Given the description of an element on the screen output the (x, y) to click on. 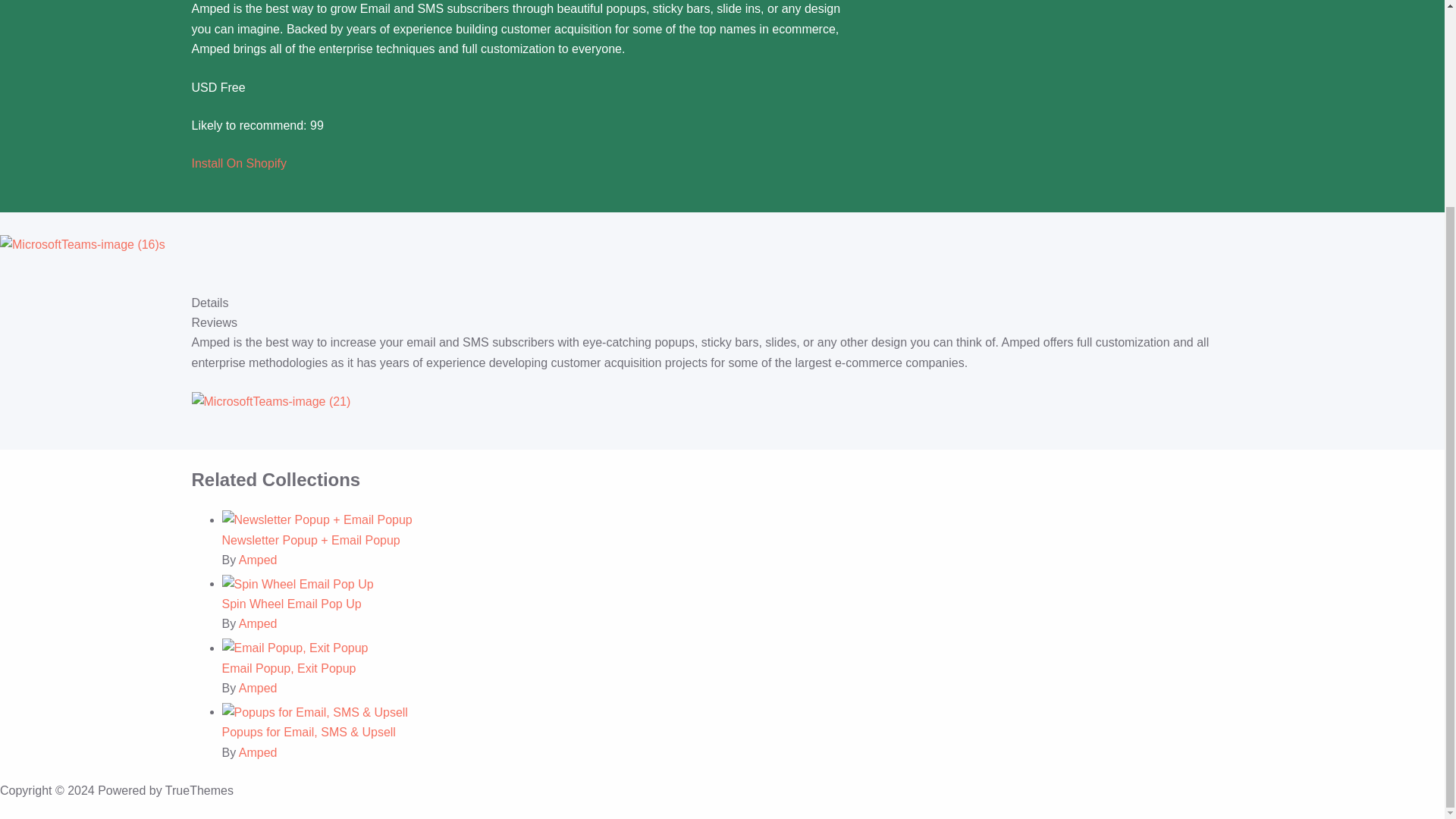
Email Popup, Exit Popup (288, 667)
Amped (258, 687)
Spin Wheel Email Pop Up (291, 603)
Install On Shopify (237, 163)
Amped (258, 559)
Amped (258, 623)
Amped (258, 752)
